Given the description of an element on the screen output the (x, y) to click on. 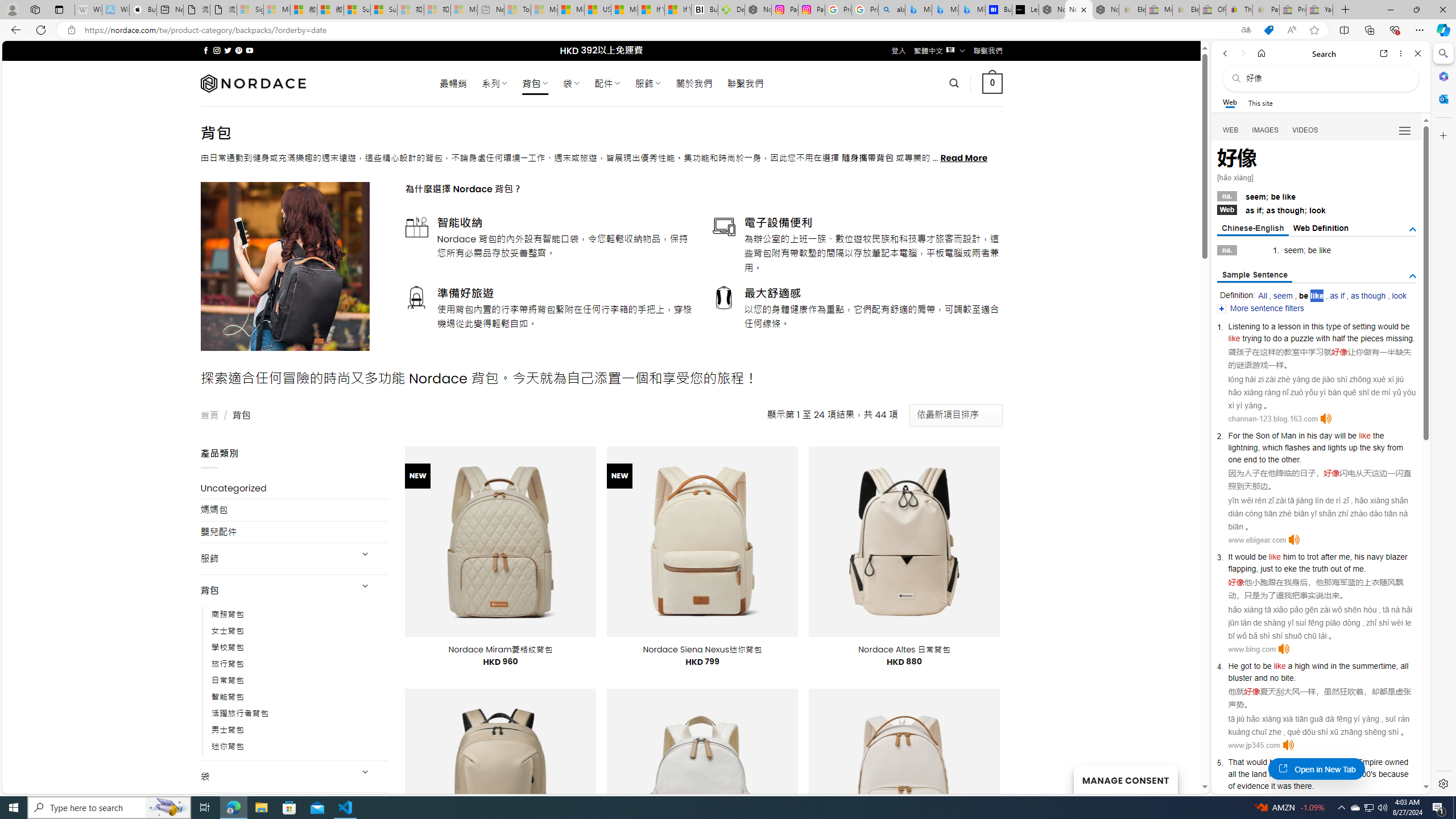
would (1256, 761)
because (1393, 773)
land (1258, 773)
be (1266, 665)
of (1347, 568)
. (1312, 785)
with (1323, 338)
